Given the description of an element on the screen output the (x, y) to click on. 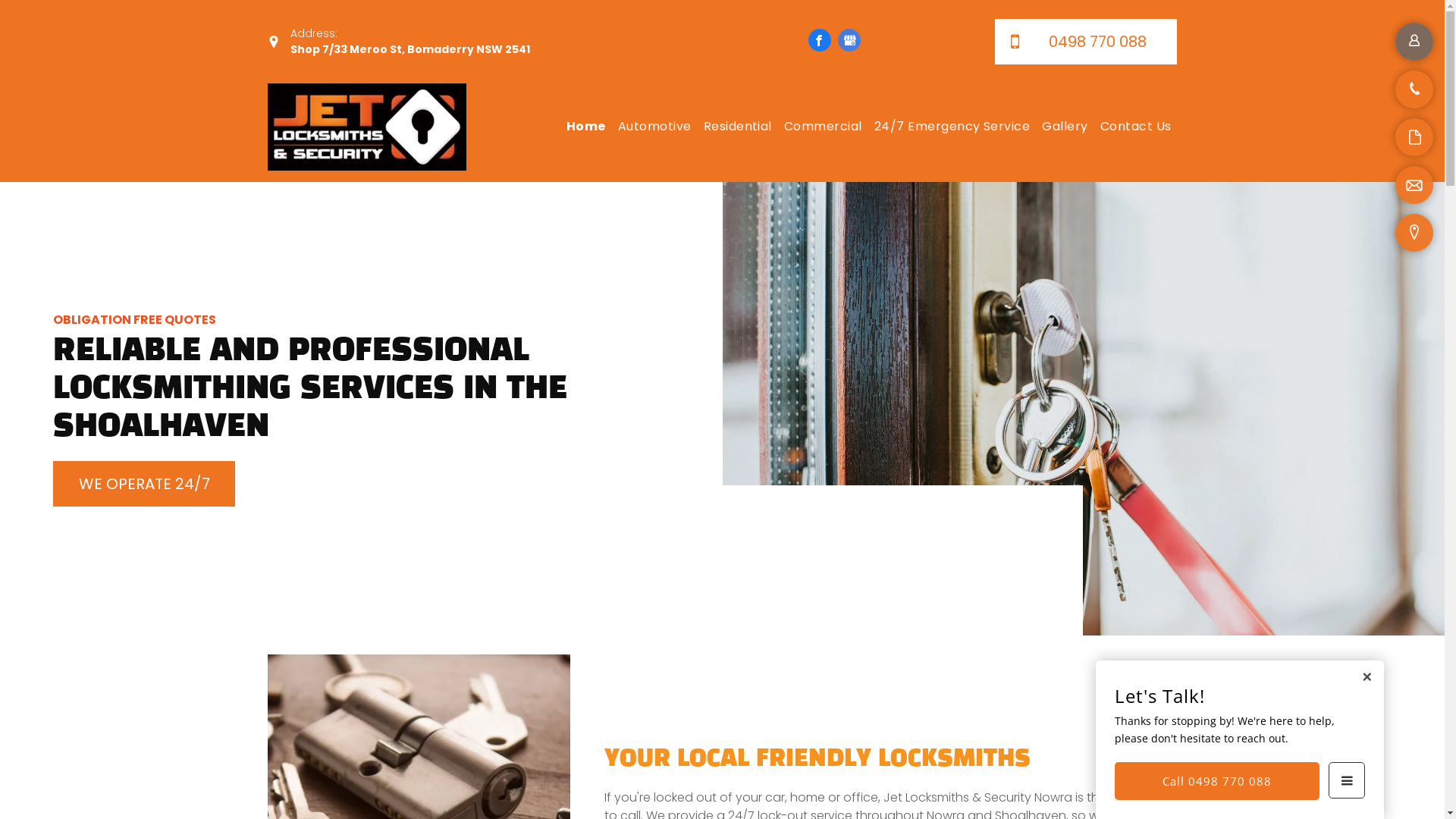
Residential Element type: text (737, 126)
Shop 7/33 Meroo St, Bomaderry NSW 2541 Element type: text (409, 48)
24/7 Emergency Service Element type: text (952, 126)
Call 0498 770 088 Element type: text (1216, 781)
Commercial Element type: text (823, 126)
Home Element type: text (585, 126)
Jet Locksmiths Element type: hover (366, 126)
Gallery Element type: text (1064, 126)
Contact Us Element type: text (1135, 126)
0498 770 088 Element type: text (1085, 41)
WE OPERATE 24/7 Element type: text (144, 483)
Automotive Element type: text (654, 126)
